Given the description of an element on the screen output the (x, y) to click on. 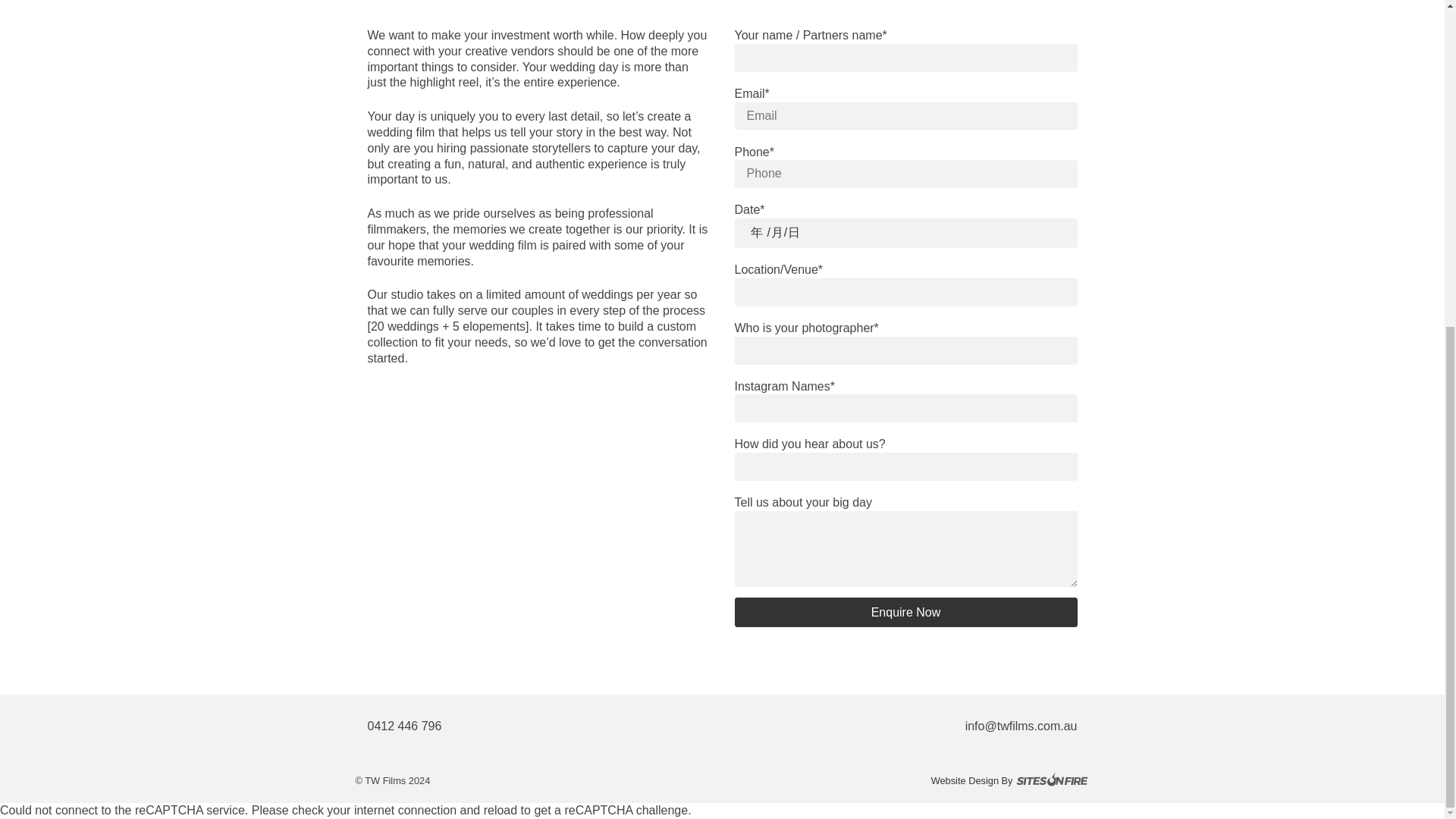
Website Design By (905, 781)
Enquire Now (905, 612)
Enquire Now (905, 612)
